Given the description of an element on the screen output the (x, y) to click on. 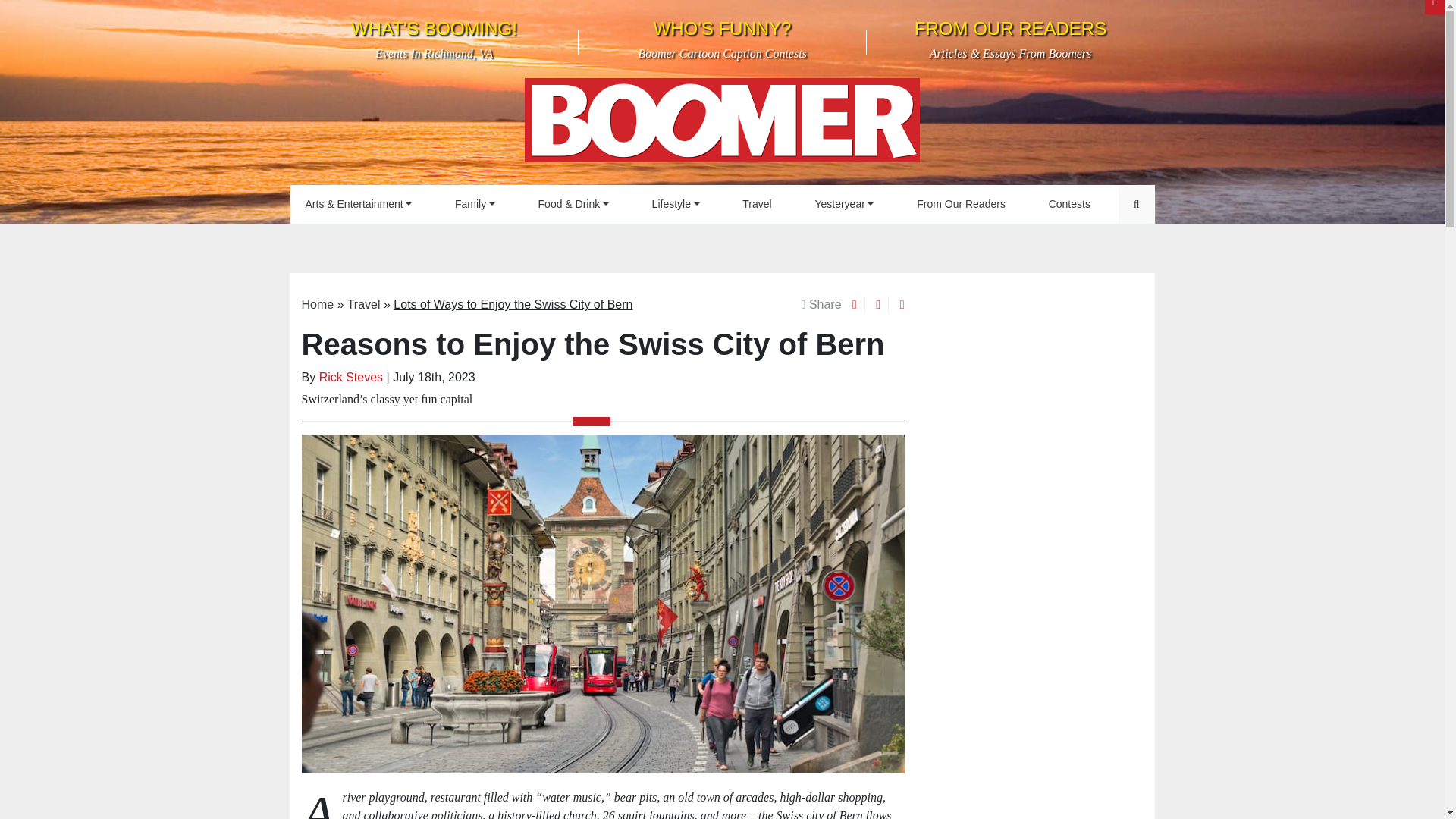
Family (475, 204)
Family (475, 204)
Yesteryear (843, 204)
Lifestyle (675, 204)
Travel (434, 39)
From Our Readers (756, 204)
BOOMER Magazine (960, 204)
Contests (722, 124)
